Given the description of an element on the screen output the (x, y) to click on. 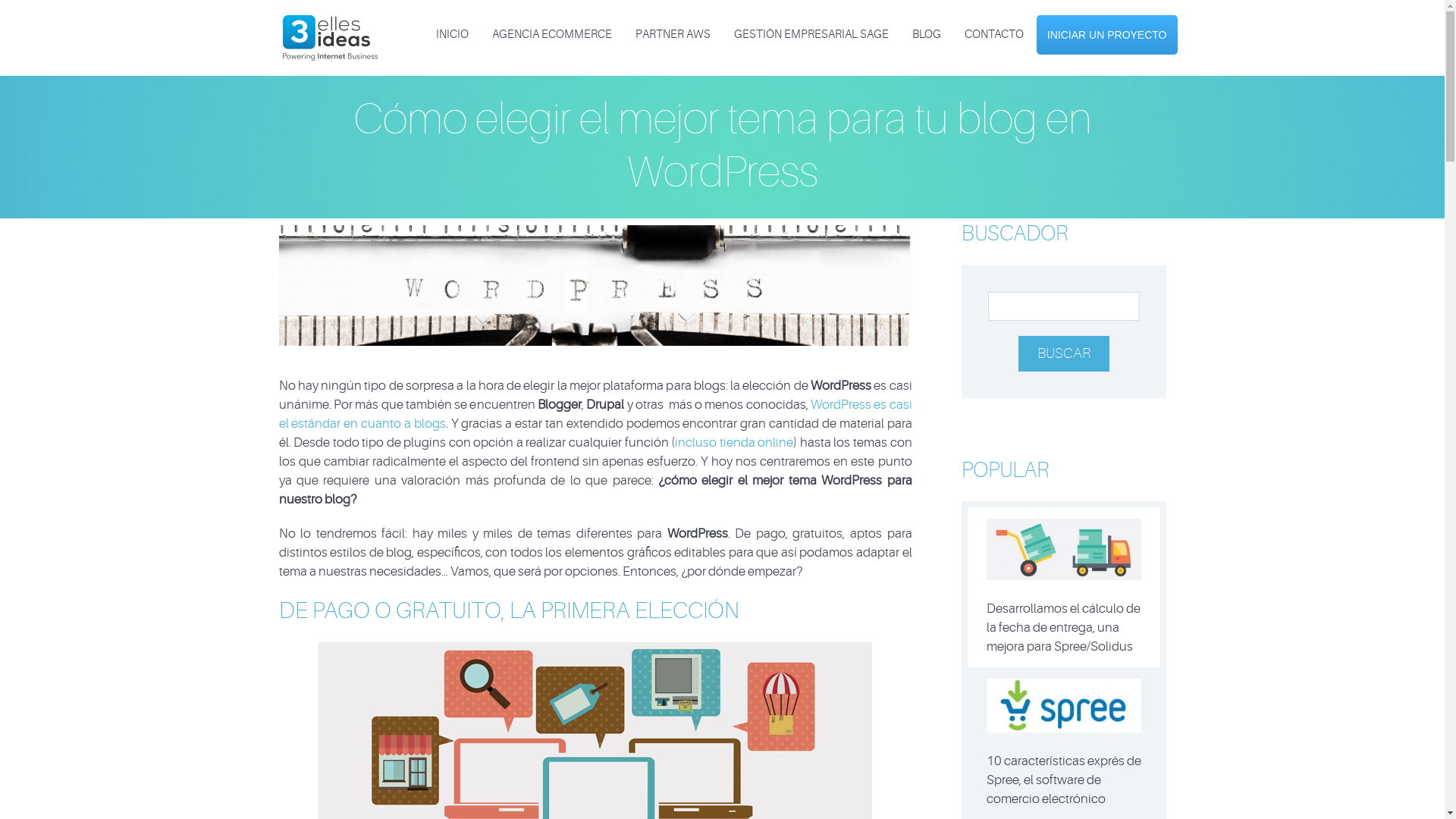
CONTACTO Element type: text (993, 34)
BLOG Element type: text (926, 34)
AGENCIA ECOMMERCE Element type: text (551, 34)
incluso tienda online Element type: text (733, 442)
Blog 3llideas Element type: hover (329, 25)
INICIAR UN PROYECTO Element type: text (1106, 34)
INICIO Element type: text (452, 34)
Buscar Element type: text (1062, 353)
PARTNER AWS Element type: text (672, 34)
